Given the description of an element on the screen output the (x, y) to click on. 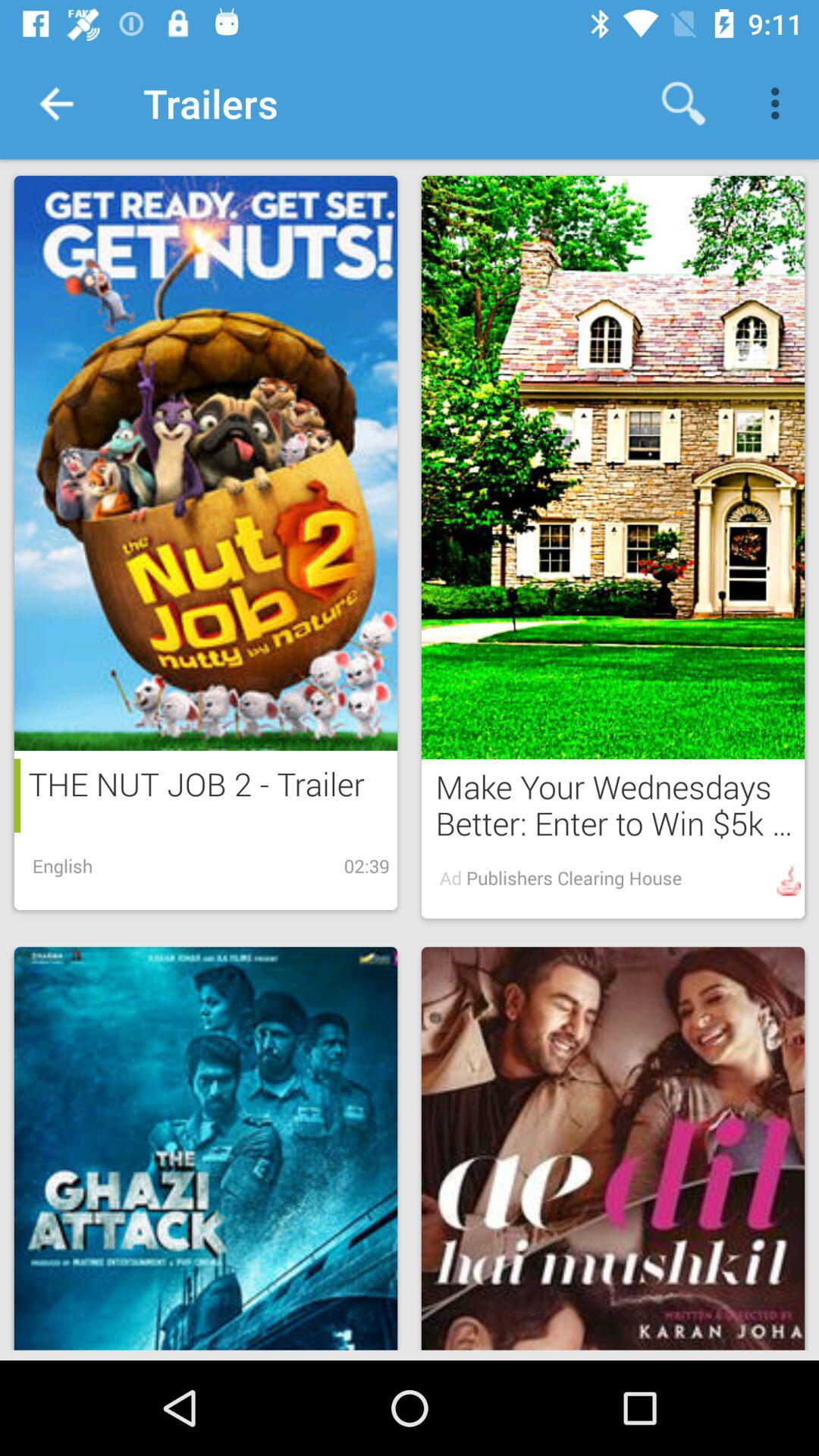
turn on the icon next to the trailers  app (55, 103)
